Given the description of an element on the screen output the (x, y) to click on. 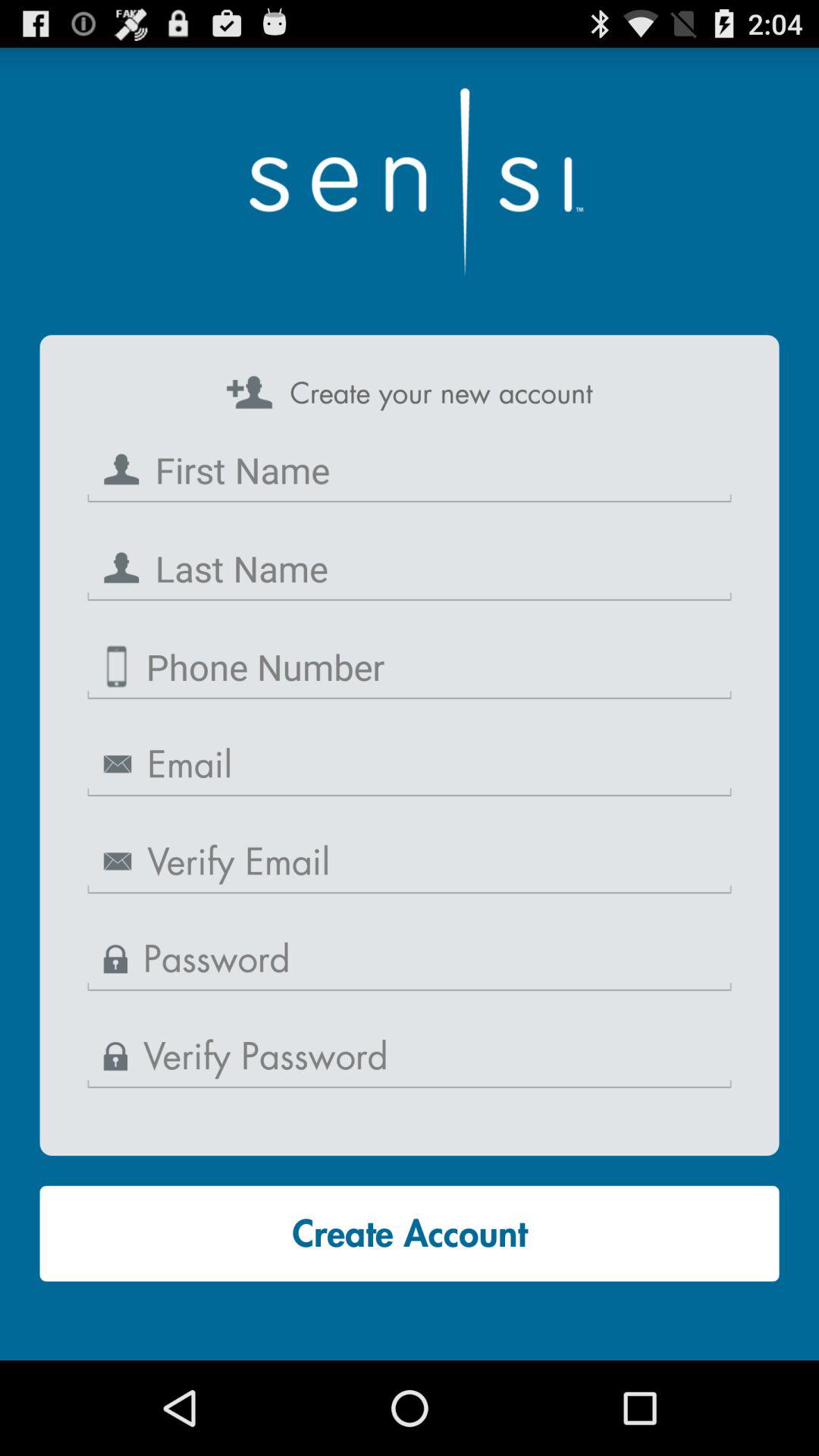
enter password (409, 1056)
